Given the description of an element on the screen output the (x, y) to click on. 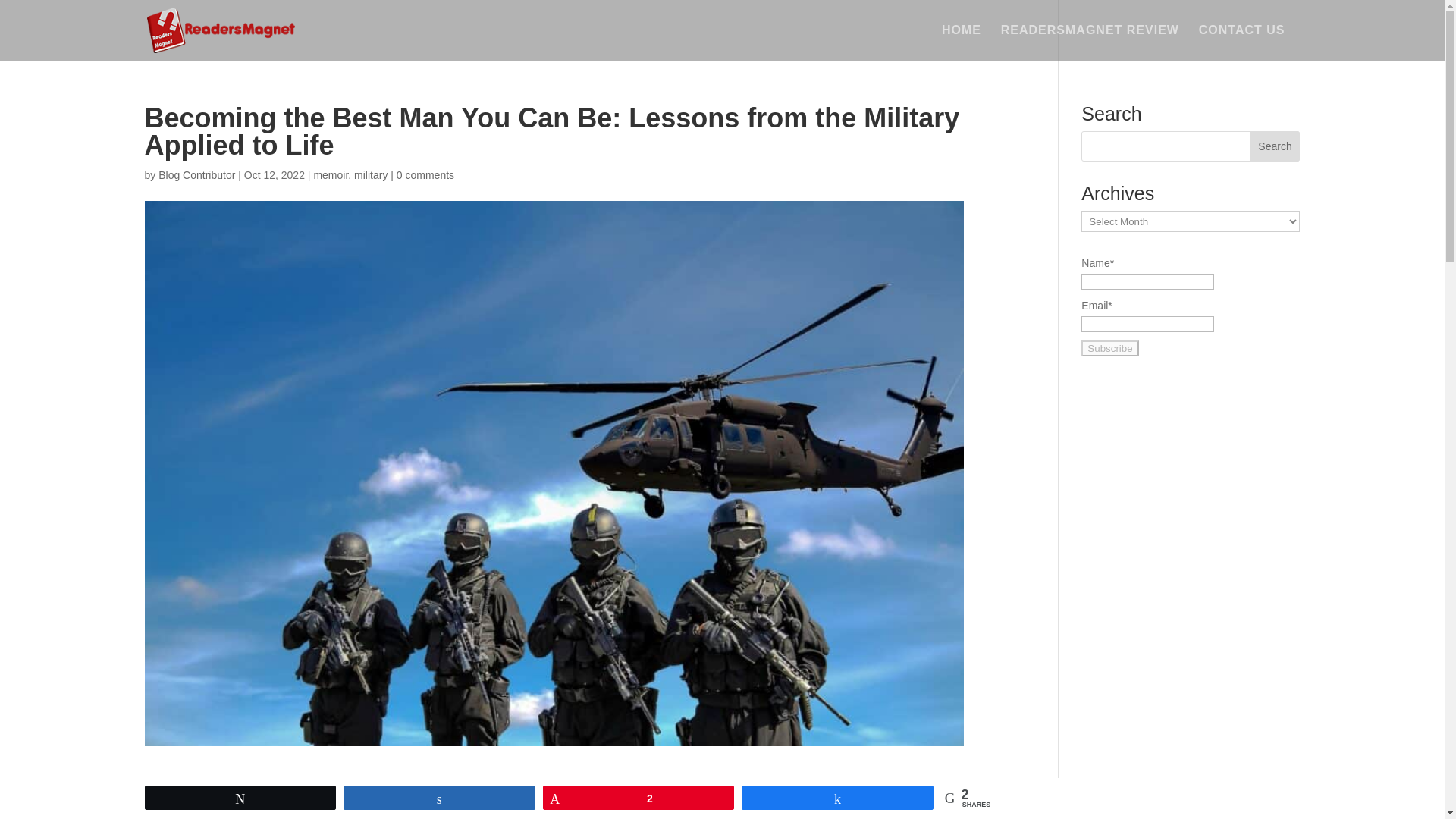
Somchai Kongkamsri (239, 783)
Search (1275, 146)
Posts by Blog Contributor (196, 174)
Subscribe (1109, 348)
HOME (961, 42)
memoir (330, 174)
Subscribe (1109, 348)
Search (1275, 146)
2 (638, 797)
military (370, 174)
CONTACT US (1241, 42)
0 comments (425, 174)
READERSMAGNET REVIEW (1090, 42)
Blog Contributor (196, 174)
